Given the description of an element on the screen output the (x, y) to click on. 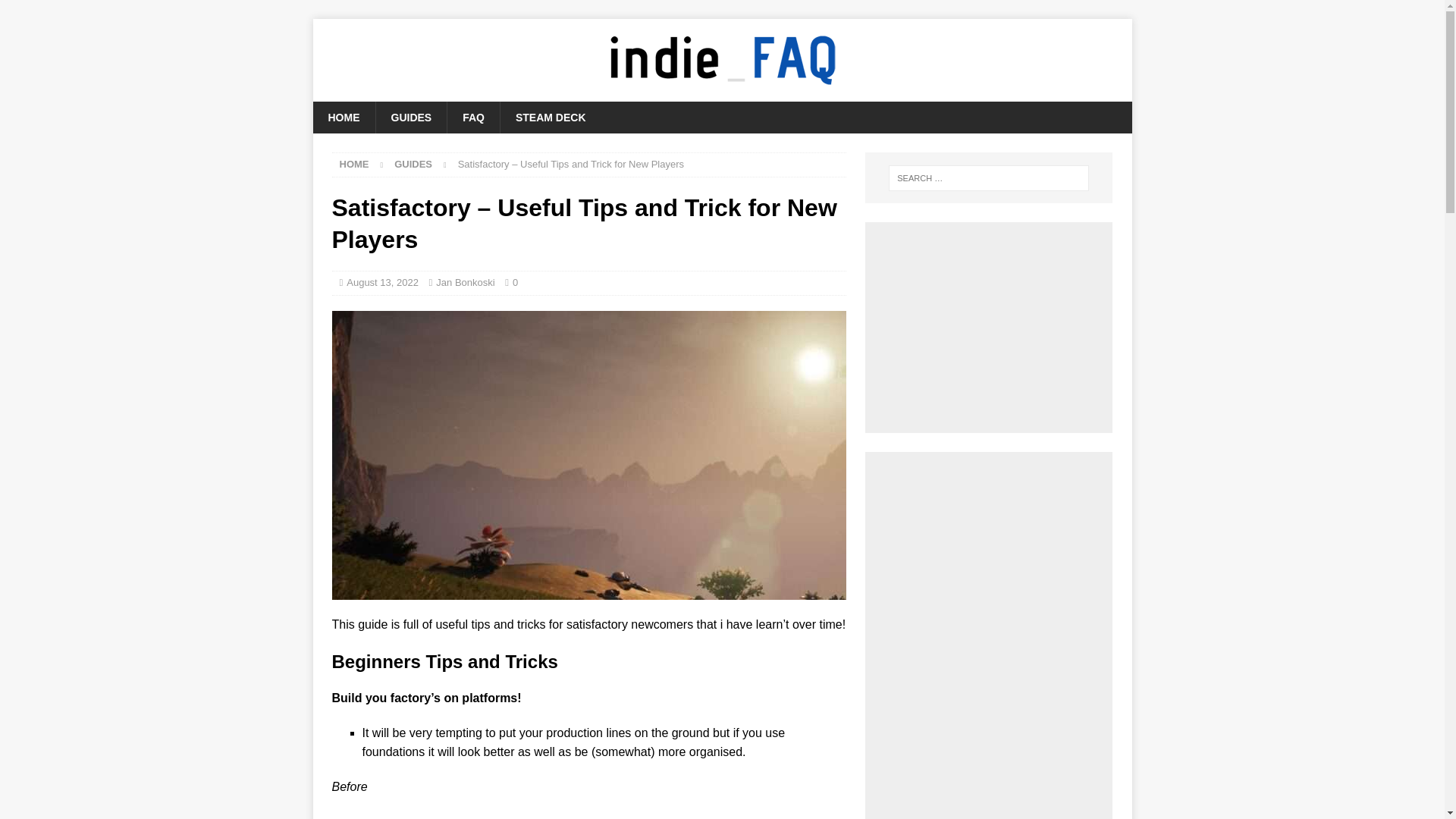
GUIDES (410, 117)
HOME (343, 117)
Search (56, 11)
GUIDES (413, 163)
August 13, 2022 (382, 282)
FAQ (472, 117)
HOME (354, 163)
Jan Bonkoski (465, 282)
Guides (413, 163)
